Given the description of an element on the screen output the (x, y) to click on. 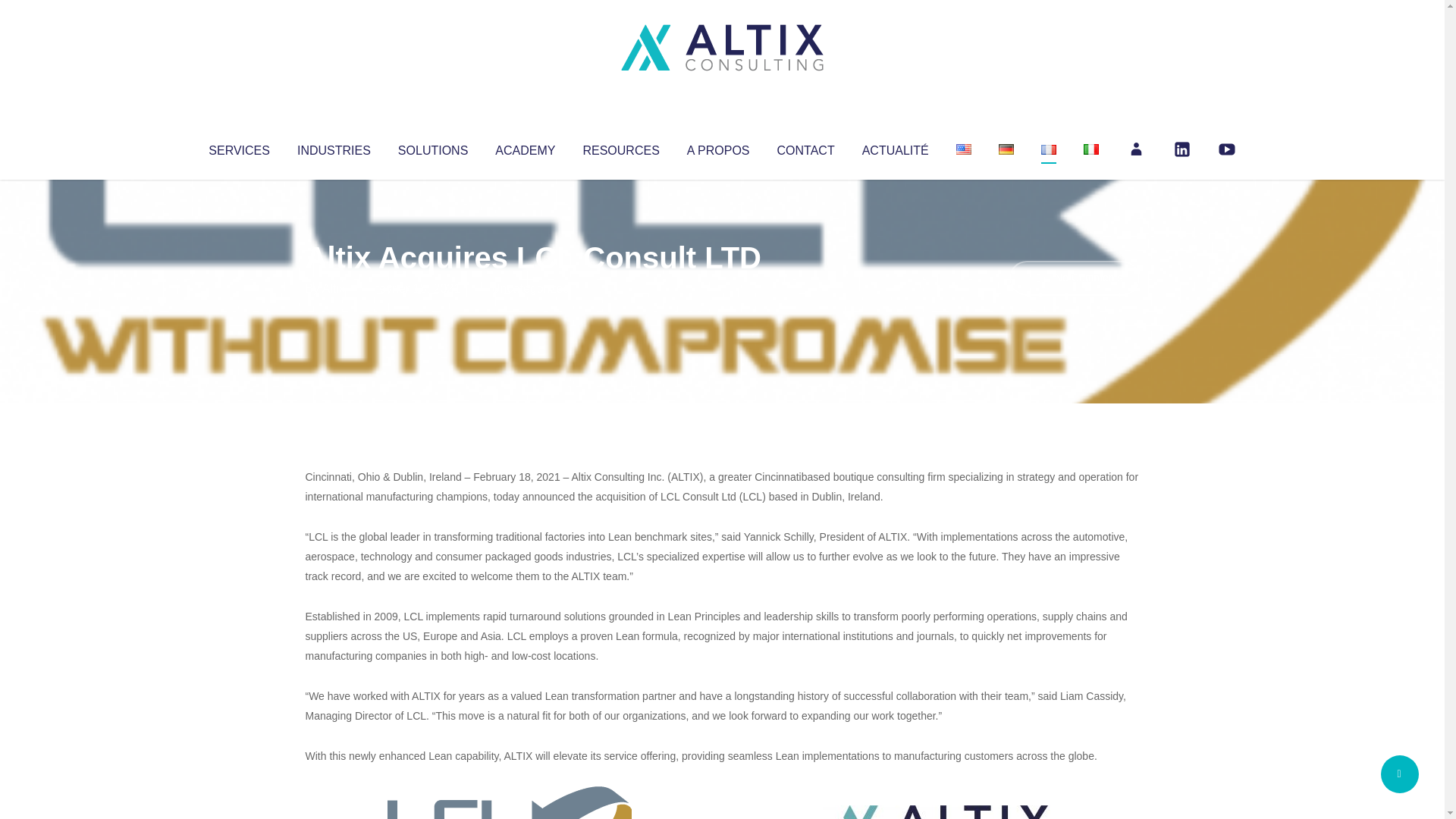
SOLUTIONS (432, 146)
Altix (333, 287)
RESOURCES (620, 146)
Uncategorized (530, 287)
A PROPOS (718, 146)
INDUSTRIES (334, 146)
Articles par Altix (333, 287)
No Comments (1073, 278)
ACADEMY (524, 146)
SERVICES (238, 146)
